Given the description of an element on the screen output the (x, y) to click on. 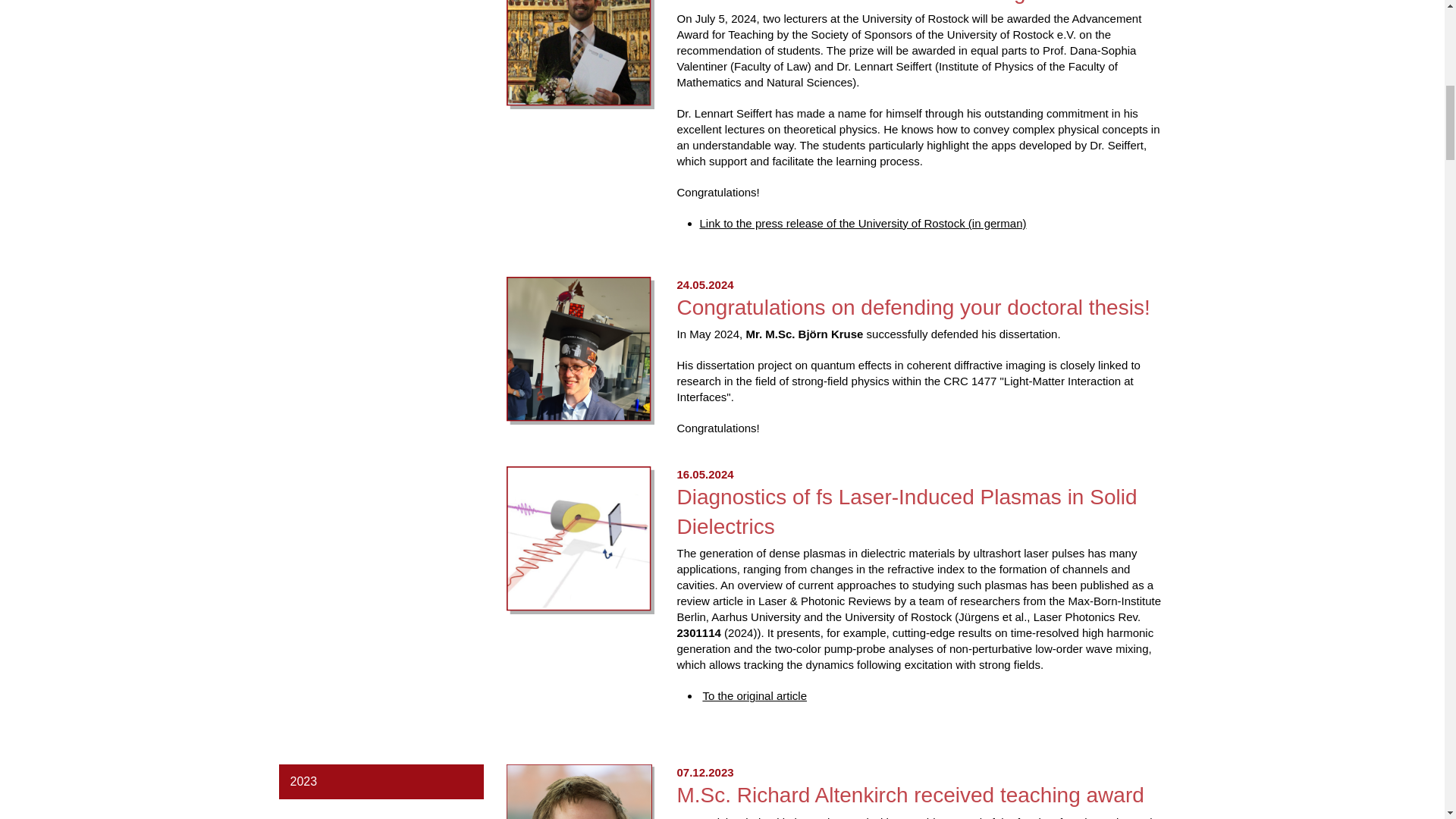
Dr. Lennart Seiffert (579, 54)
To the original article (753, 695)
To the original article (579, 540)
back to top (1408, 25)
To the original article (753, 695)
